Given the description of an element on the screen output the (x, y) to click on. 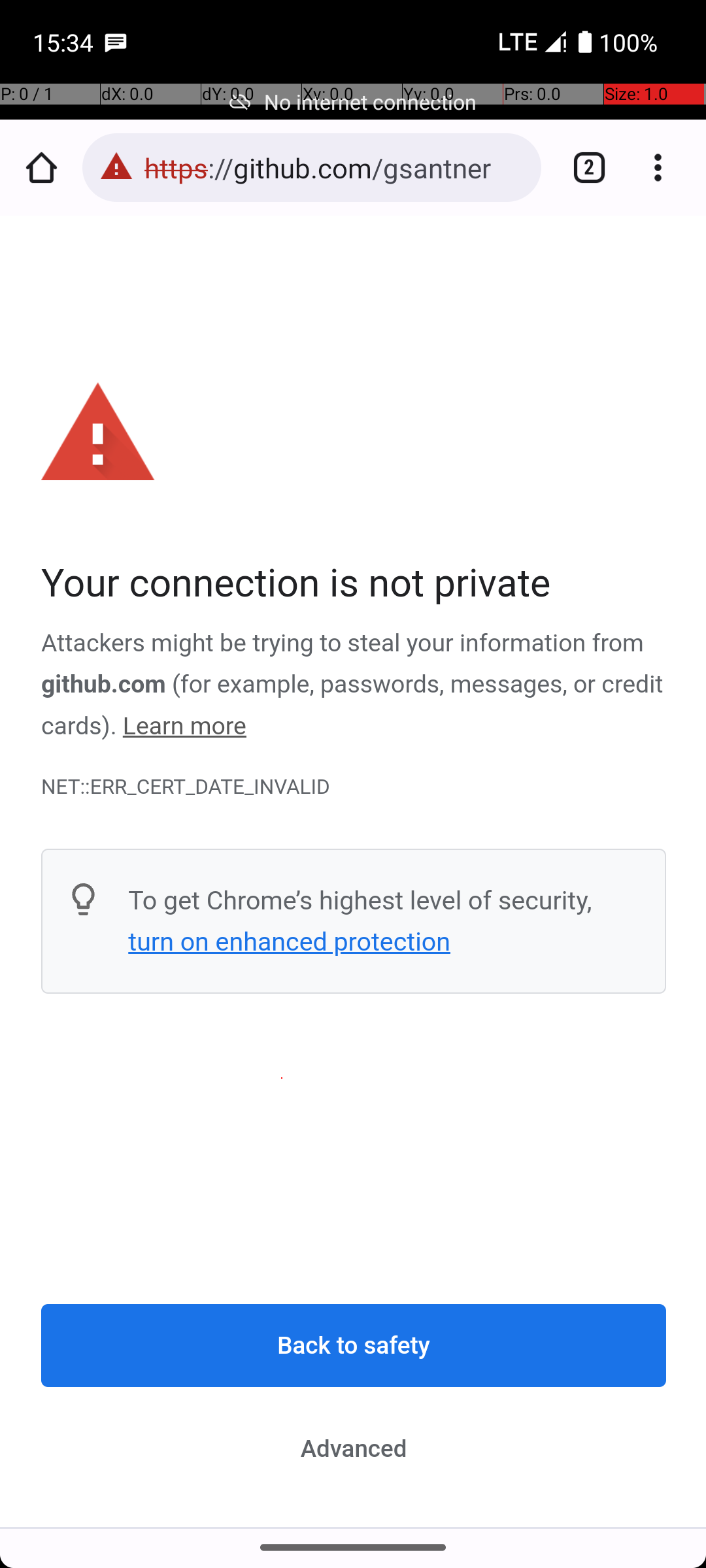
https://github.com/gsantner Element type: android.widget.EditText (335, 167)
